Given the description of an element on the screen output the (x, y) to click on. 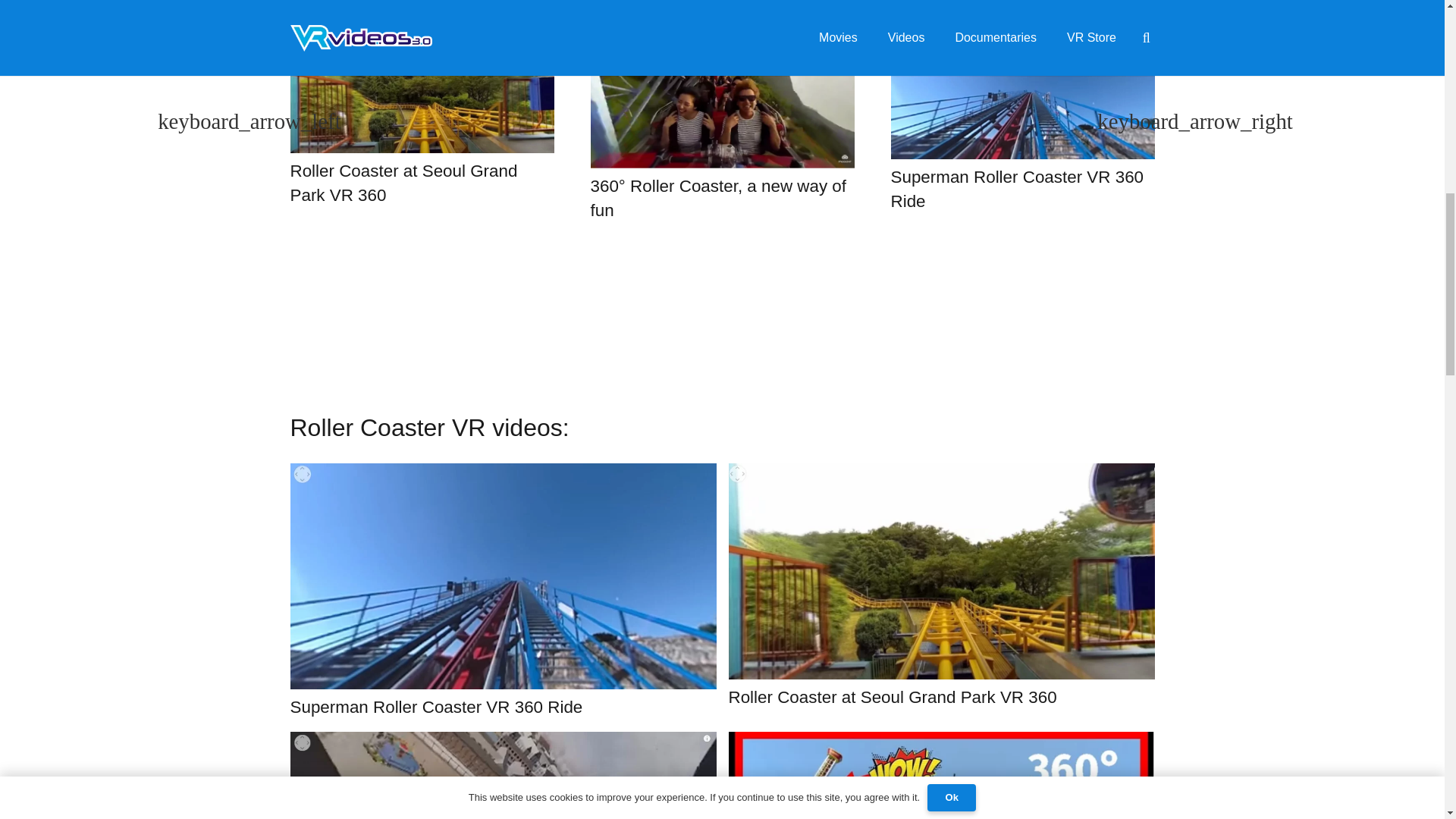
Superman Roller Coaster VR 360 Ride (435, 706)
Back to top (1413, 30)
Roller Coaster at Seoul Grand Park VR 360 (892, 696)
Superman Roller Coaster VR 360 Ride (1015, 188)
Roller Coaster at Seoul Grand Park VR 360 (402, 182)
Advertisement (721, 316)
